Given the description of an element on the screen output the (x, y) to click on. 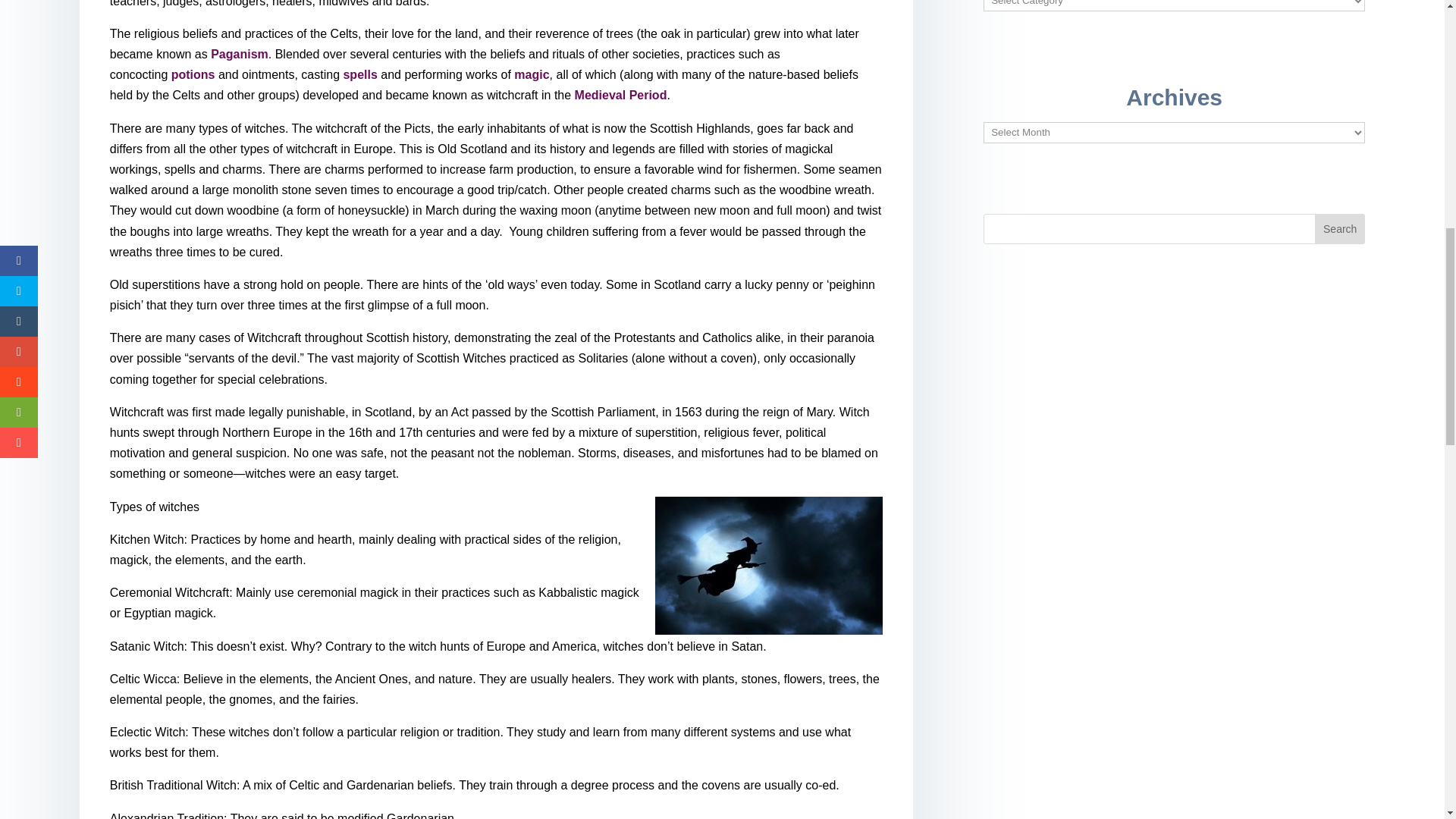
Paganism (239, 53)
spells (359, 74)
magic (530, 74)
Medieval Period (620, 94)
potions (193, 74)
Search (1339, 228)
